Given the description of an element on the screen output the (x, y) to click on. 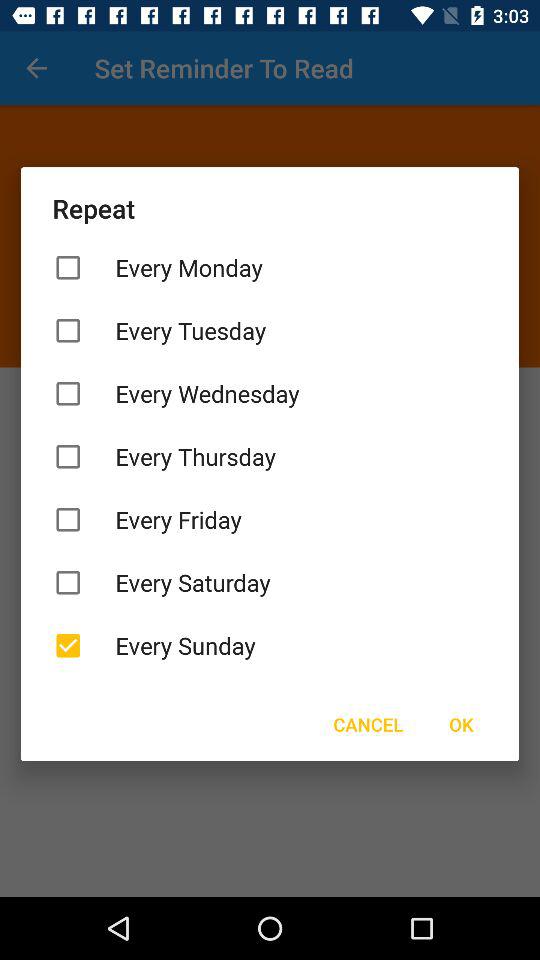
tap the icon next to the cancel item (461, 724)
